Given the description of an element on the screen output the (x, y) to click on. 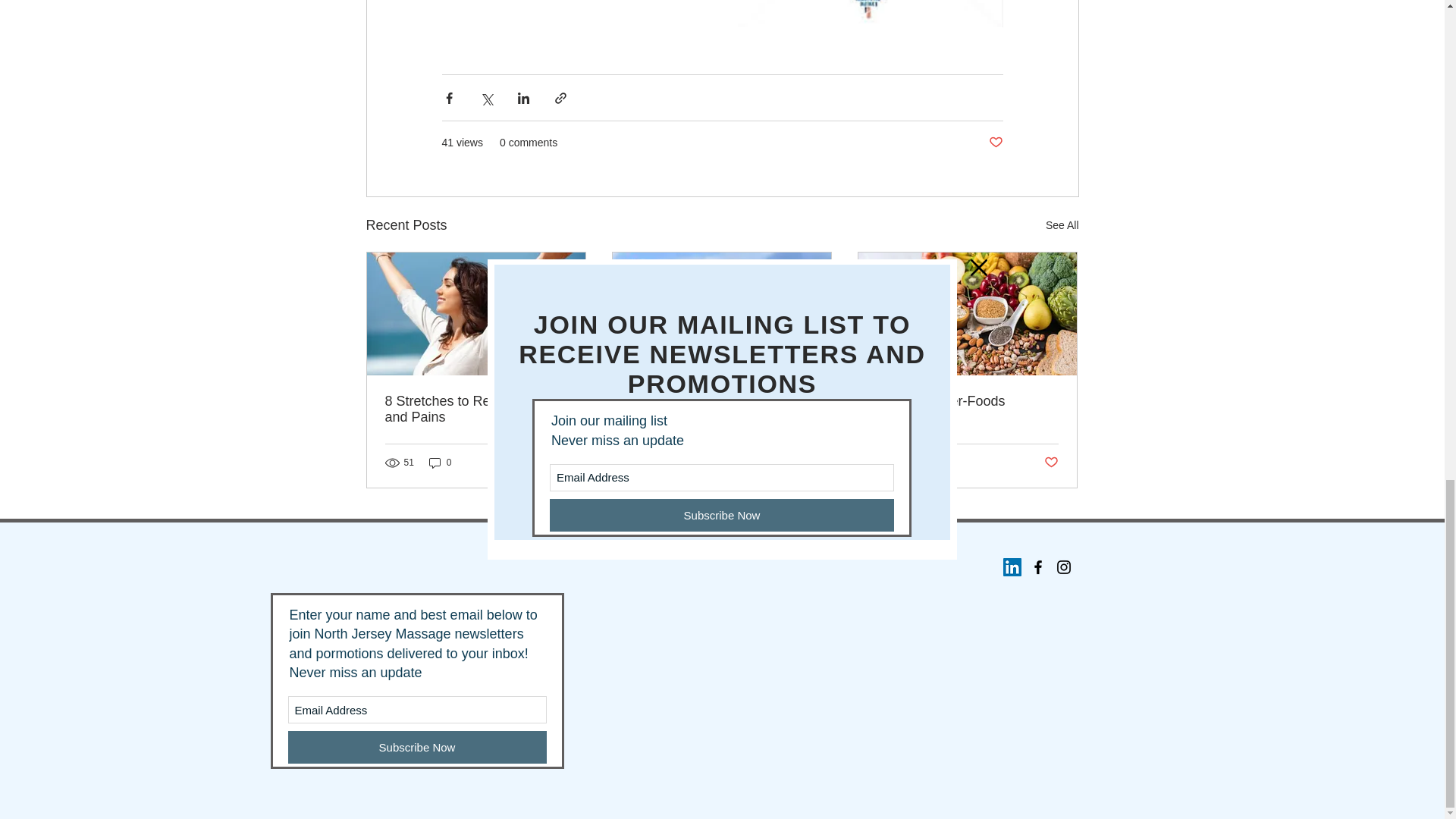
See All (1061, 225)
Post not marked as liked (558, 462)
Does Breathing Alkalize your Body? (721, 409)
Subscribe Now (417, 747)
8 Stretches to Relieve Aches and Pains (476, 409)
Post not marked as liked (804, 462)
0 (931, 462)
0 (685, 462)
Post not marked as liked (995, 142)
0 (440, 462)
Post not marked as liked (1050, 462)
Healing Super-Foods (967, 401)
